Given the description of an element on the screen output the (x, y) to click on. 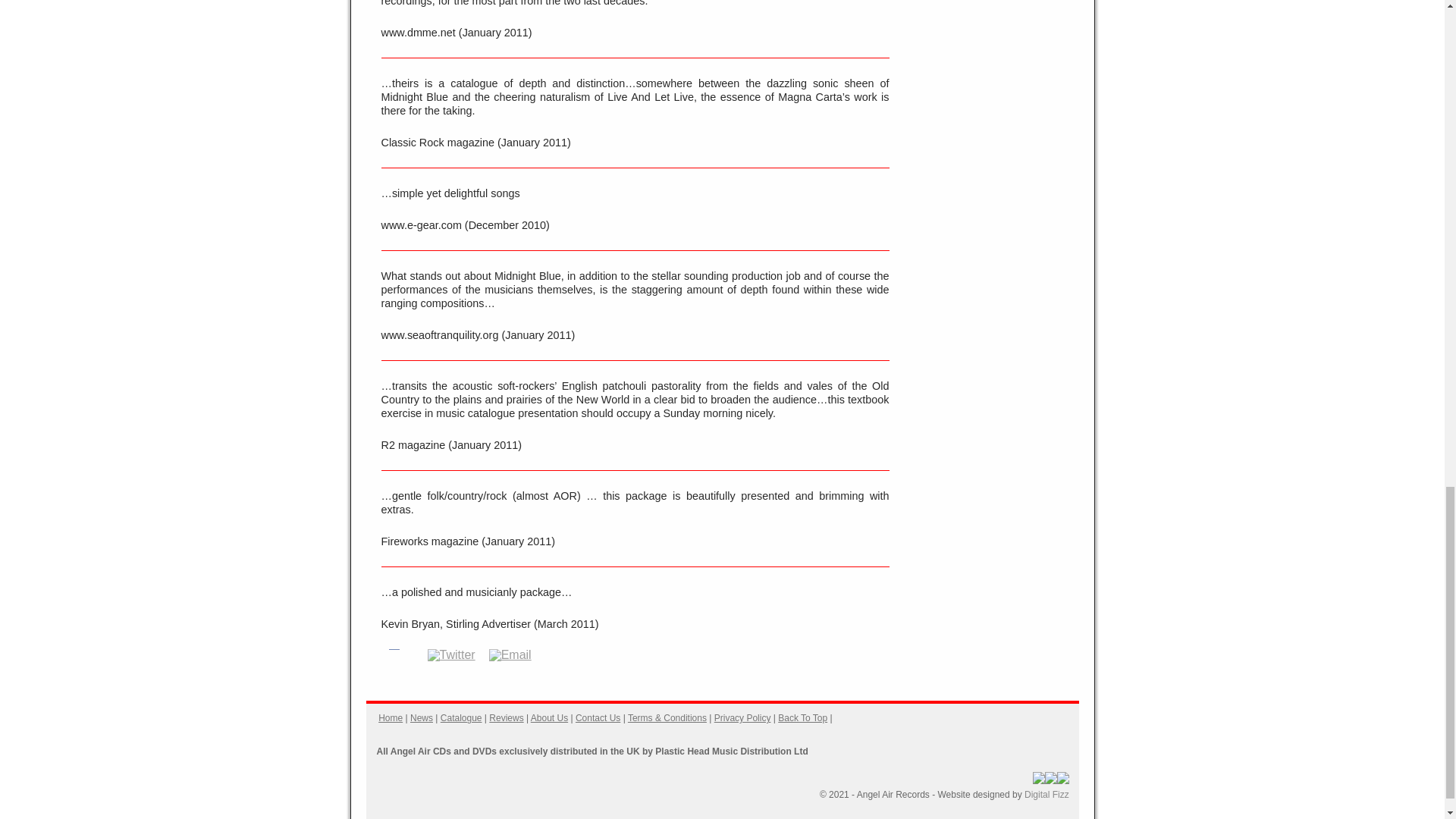
Facebook (393, 654)
